Given the description of an element on the screen output the (x, y) to click on. 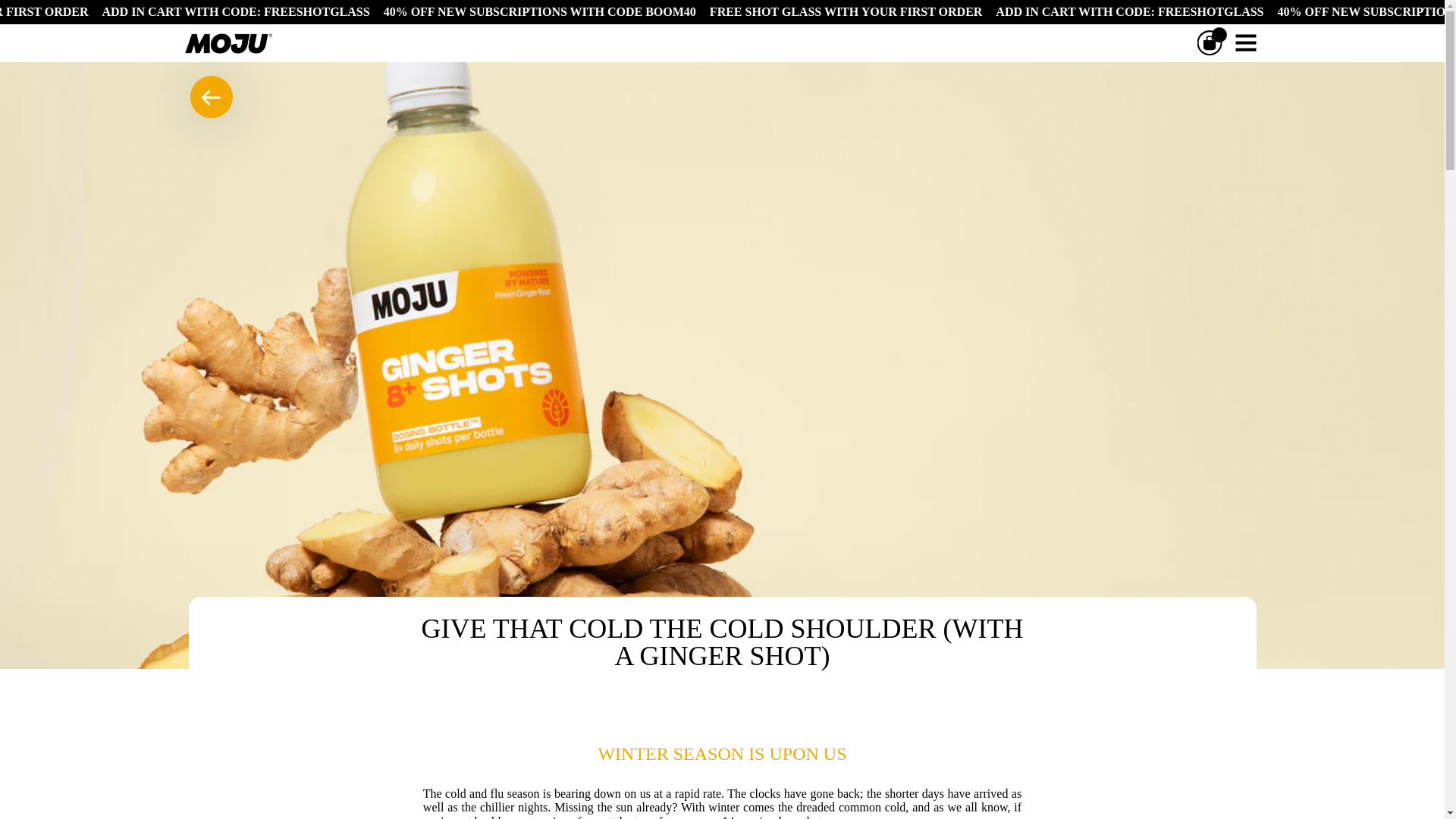
Back to Learn (209, 96)
MOJU (225, 43)
